Given the description of an element on the screen output the (x, y) to click on. 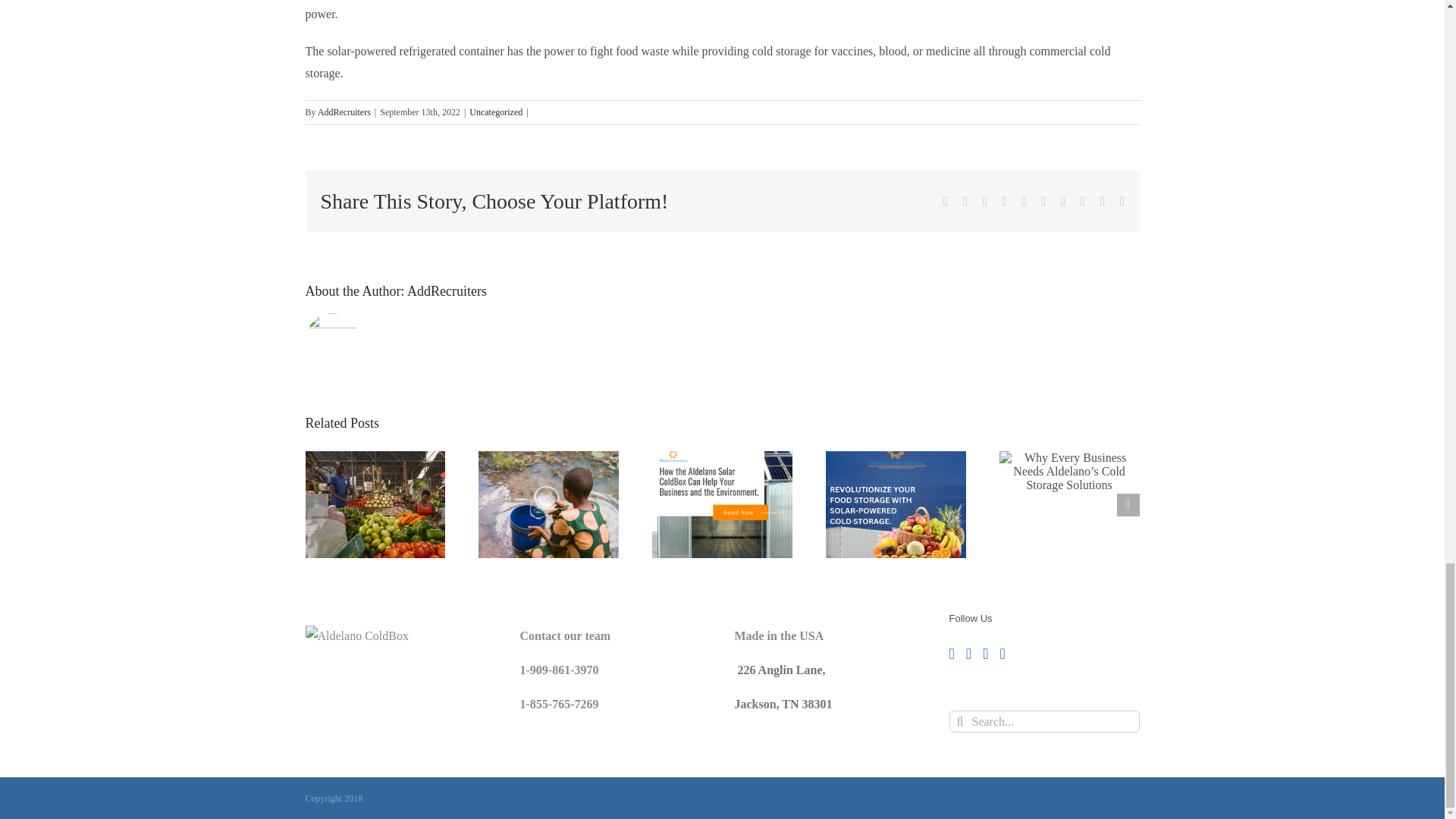
Posts by AddRecruiters (446, 290)
Posts by AddRecruiters (344, 112)
